Given the description of an element on the screen output the (x, y) to click on. 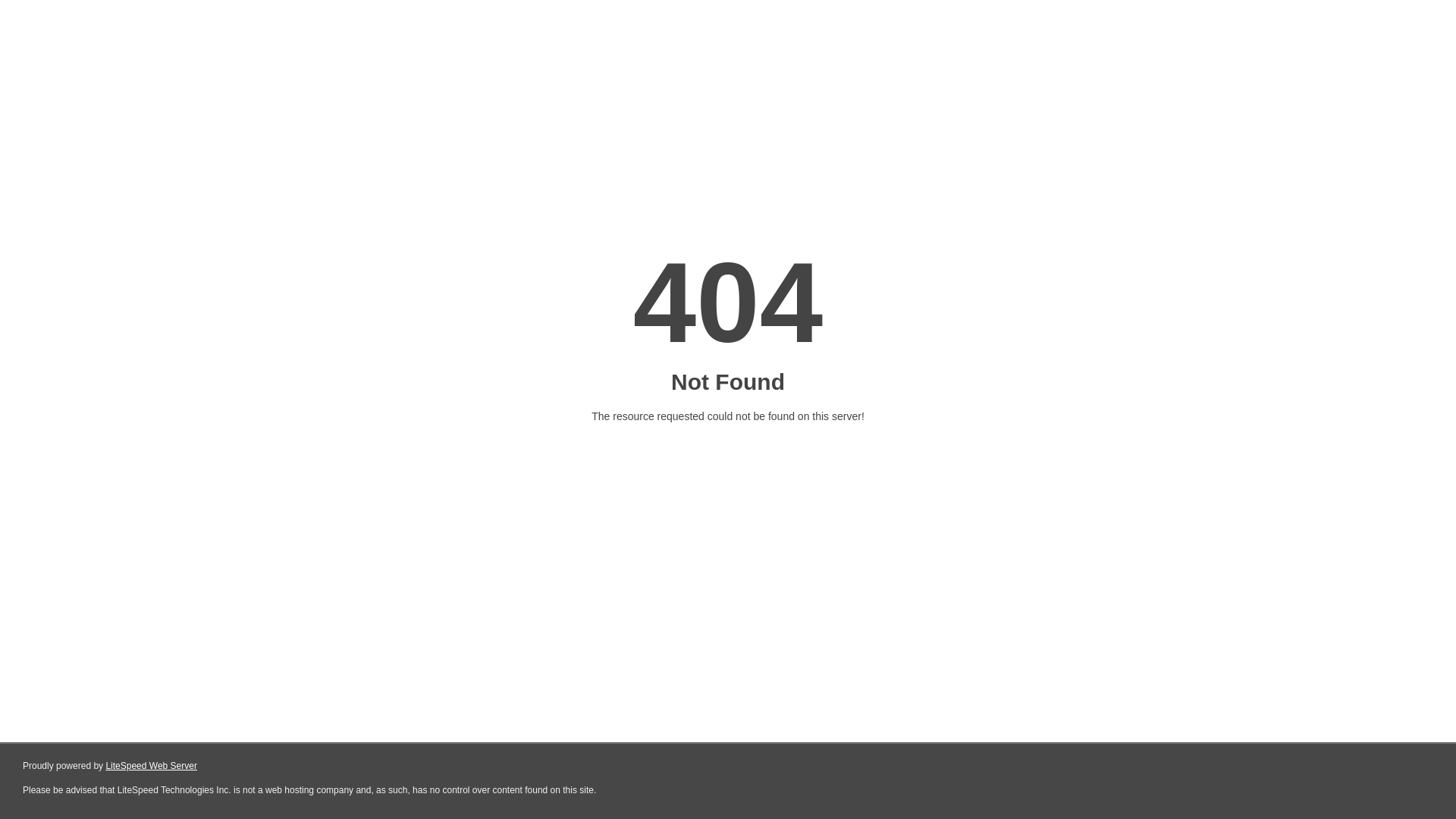
LiteSpeed Web Server Element type: text (151, 765)
